Given the description of an element on the screen output the (x, y) to click on. 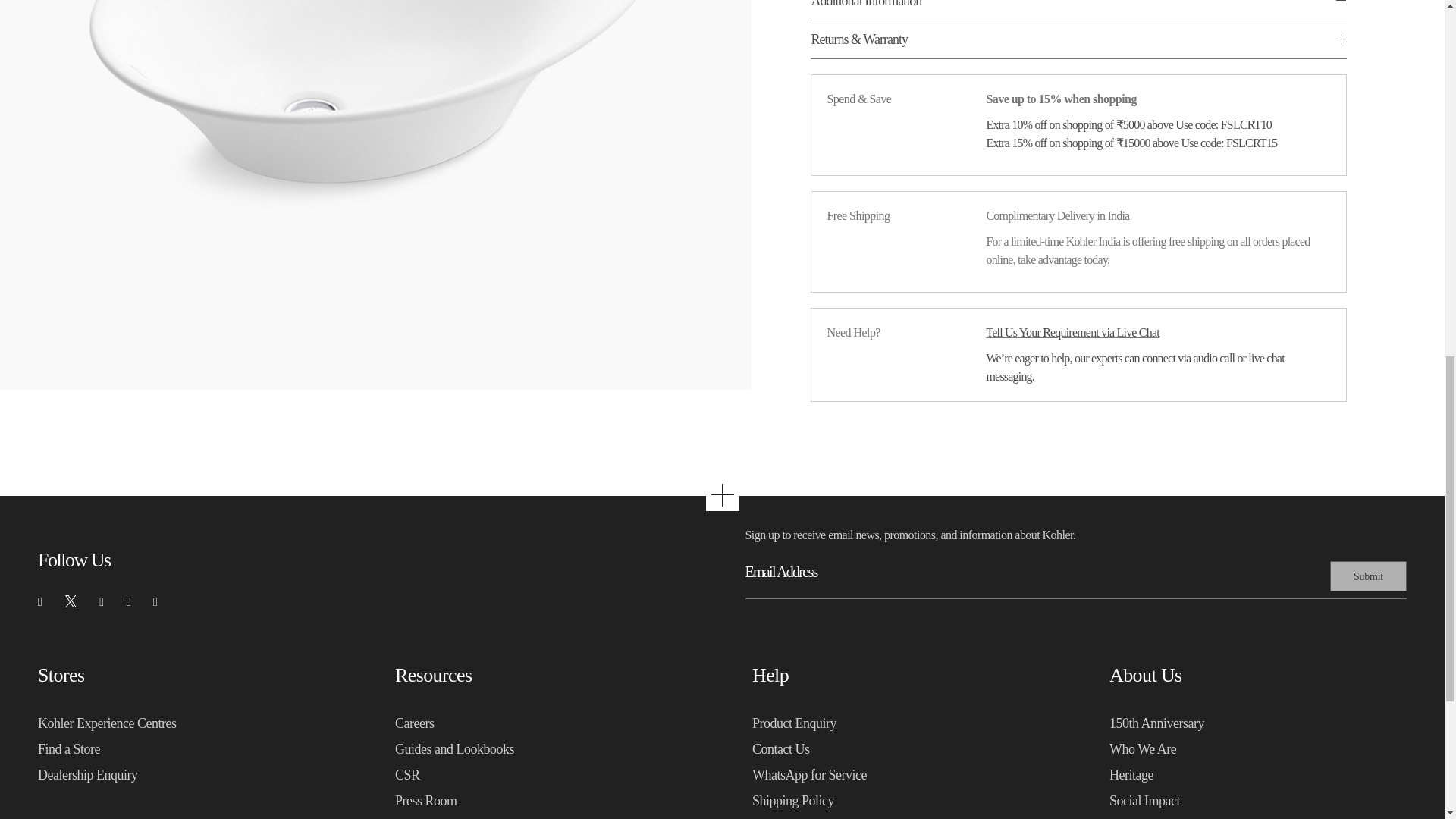
YouTube (128, 601)
LinkedIn (154, 601)
Facebook (39, 601)
Twitter (70, 601)
Instagram (101, 601)
